Given the description of an element on the screen output the (x, y) to click on. 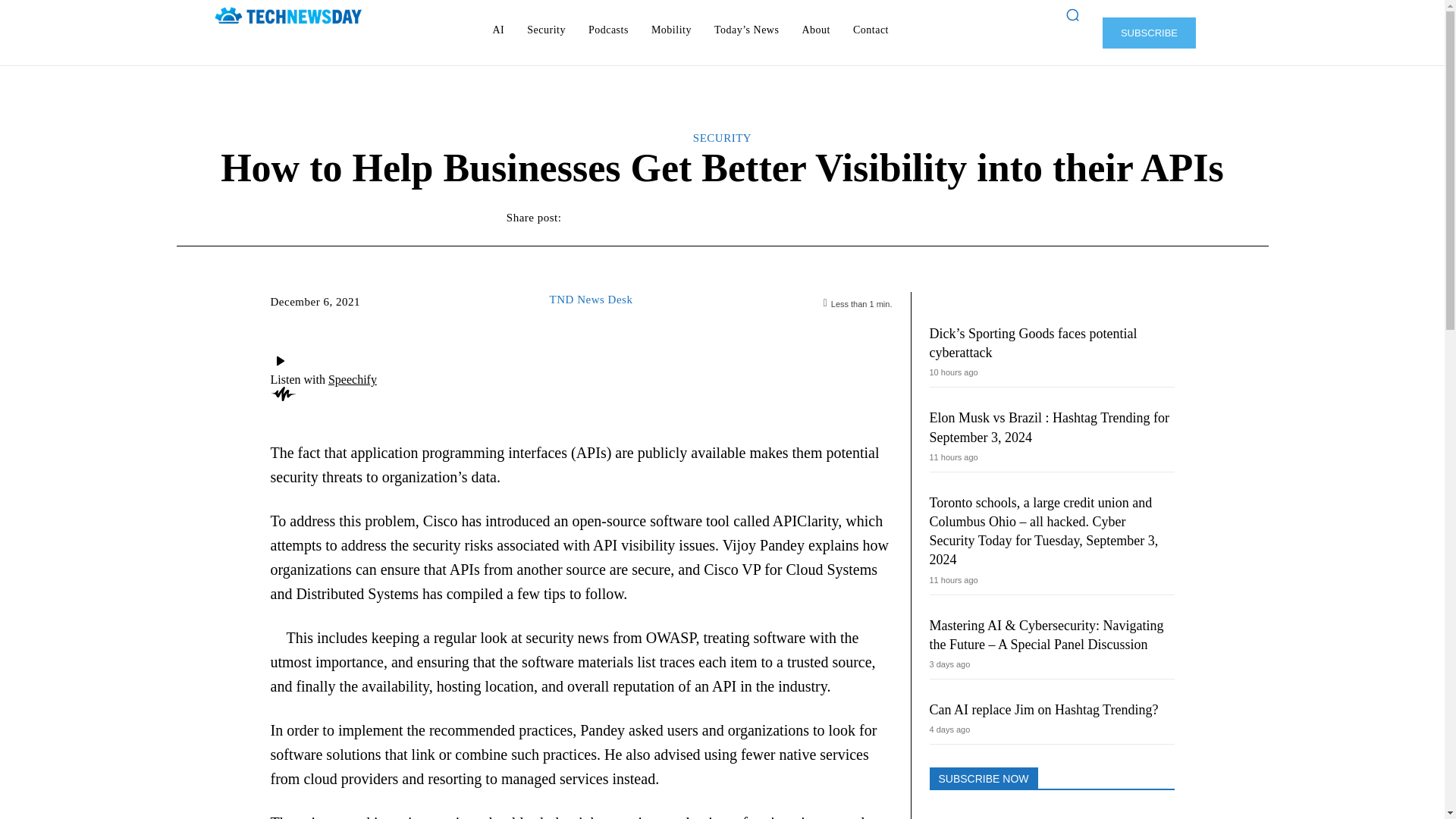
SUBSCRIBE (1148, 31)
Mobility (670, 30)
Podcasts (608, 30)
